Given the description of an element on the screen output the (x, y) to click on. 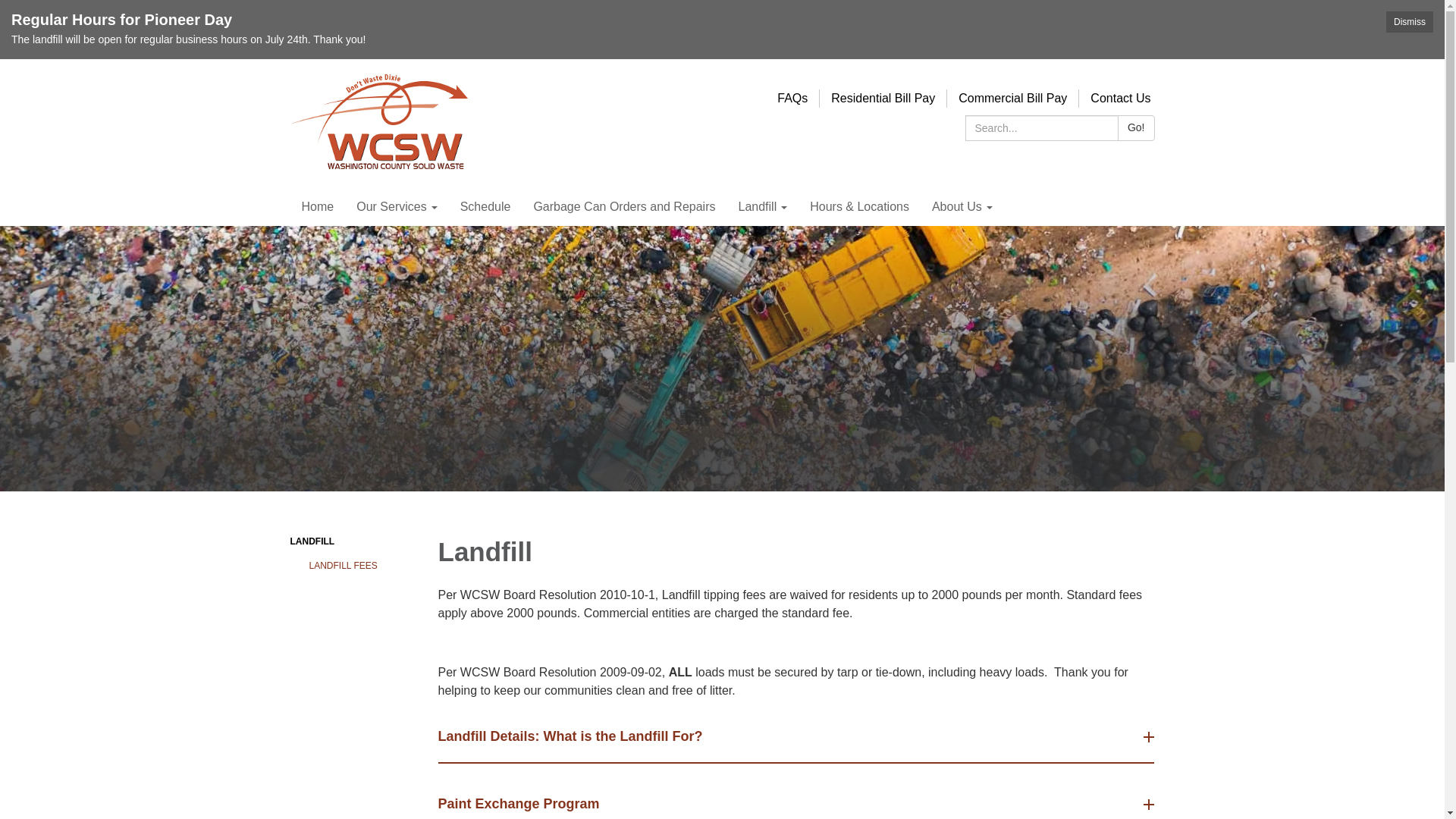
Landfill (761, 207)
Go! (1136, 127)
Contact Us (1119, 97)
Schedule (485, 207)
Commercial Bill Pay (1012, 97)
Dismiss (1409, 21)
Home (317, 207)
Our Services (396, 207)
Residential Bill Pay (882, 97)
FAQs (791, 97)
LANDFILL FEES (361, 565)
Garbage Can Orders and Repairs (623, 207)
About Us (962, 207)
LANDFILL (351, 542)
